Given the description of an element on the screen output the (x, y) to click on. 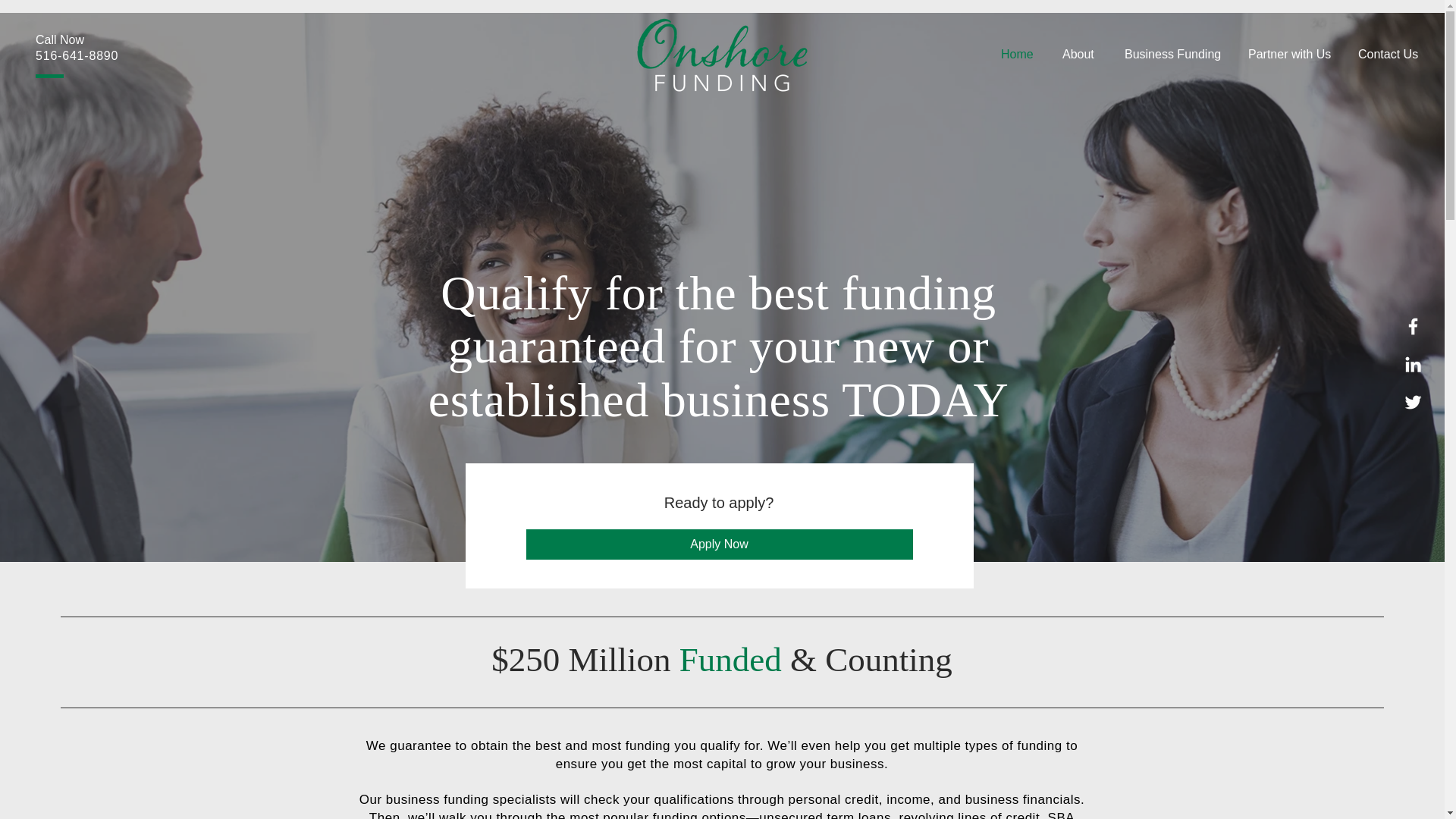
Call Now (59, 39)
About (1082, 54)
Business Funding (1174, 54)
Contact Us (1390, 54)
Partner with Us (1291, 54)
Home (1020, 54)
Apply Now (718, 544)
516-641-8890 (75, 55)
